Given the description of an element on the screen output the (x, y) to click on. 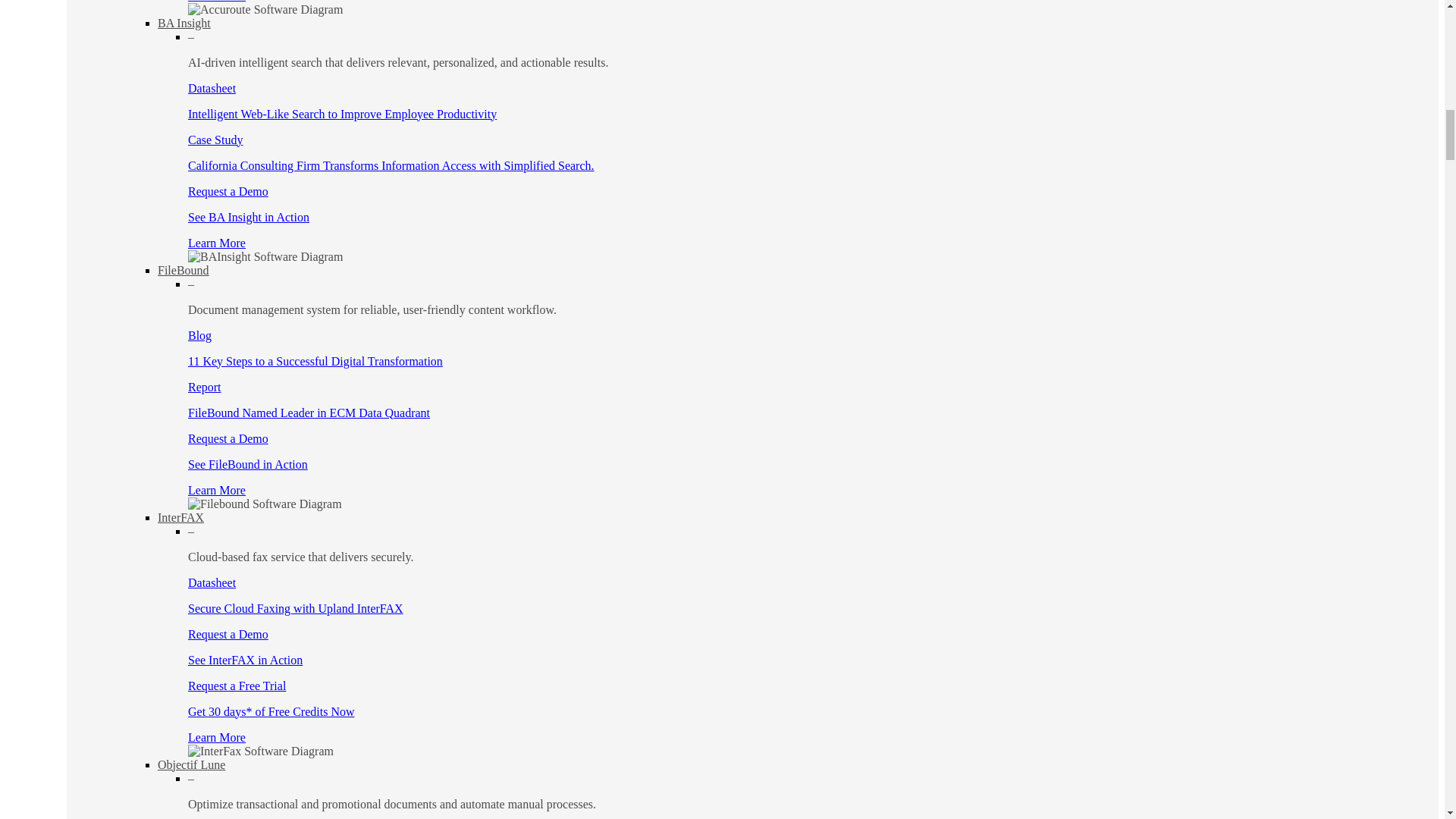
InterFAX (180, 517)
Learn More (216, 242)
BA Insight (184, 22)
Learn More (216, 490)
FileBound (183, 269)
Learn More (216, 1)
